Given the description of an element on the screen output the (x, y) to click on. 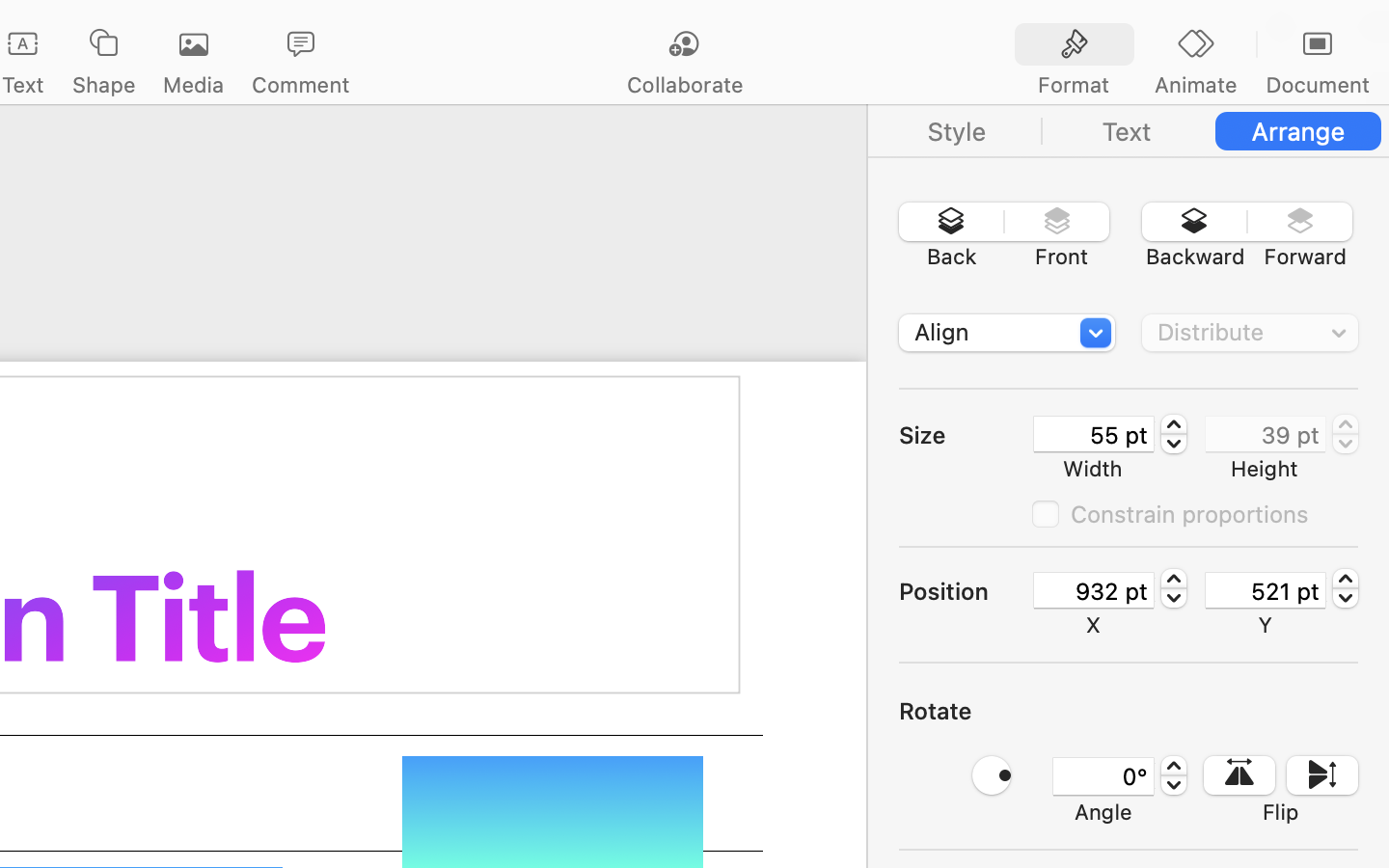
520.620000243187 Element type: AXIncrementor (1345, 588)
932 pt Element type: AXTextField (1093, 589)
